Given the description of an element on the screen output the (x, y) to click on. 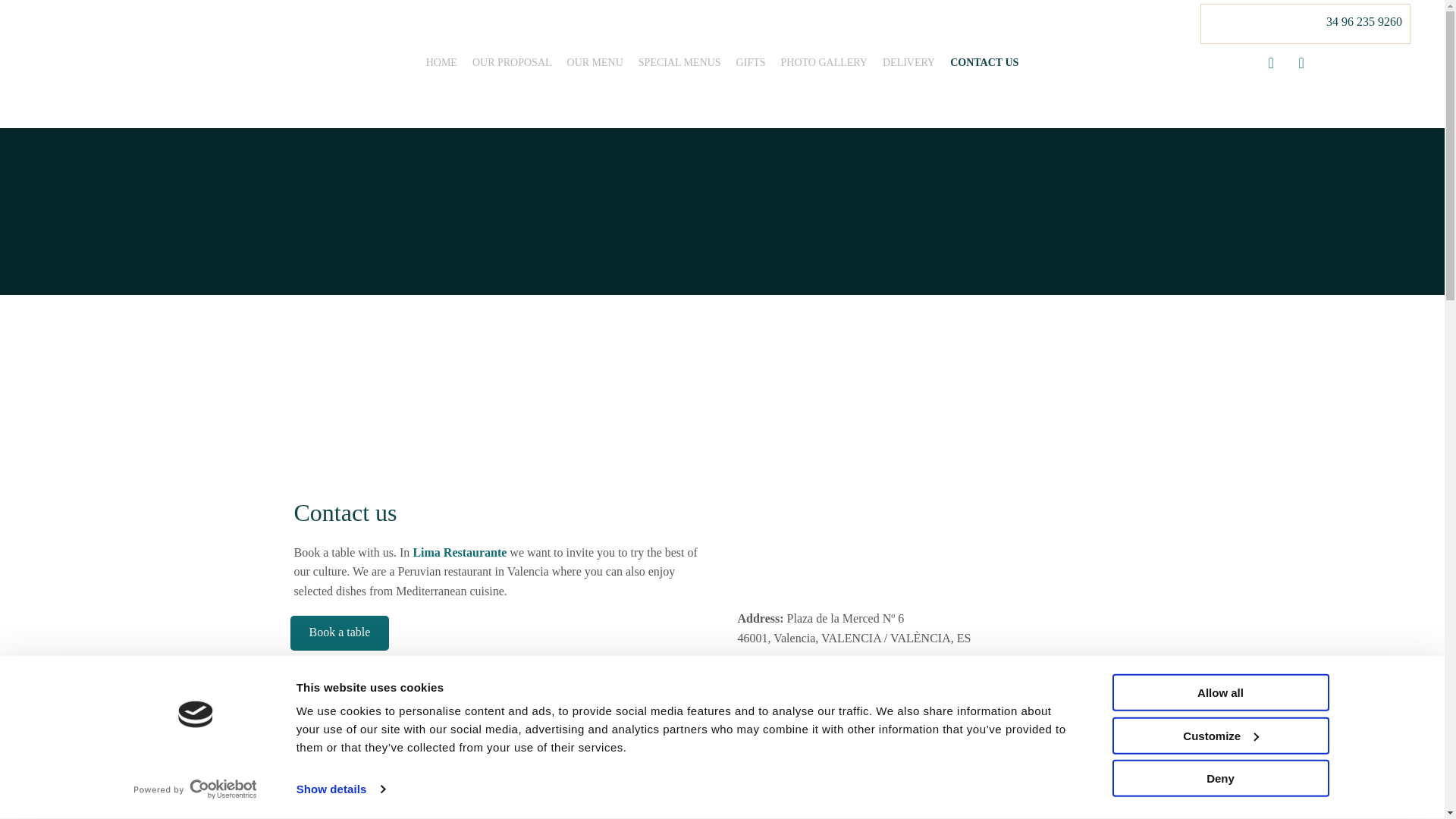
Deny (1219, 778)
Customize (1219, 734)
Show details (340, 789)
Allow all (1219, 692)
